Given the description of an element on the screen output the (x, y) to click on. 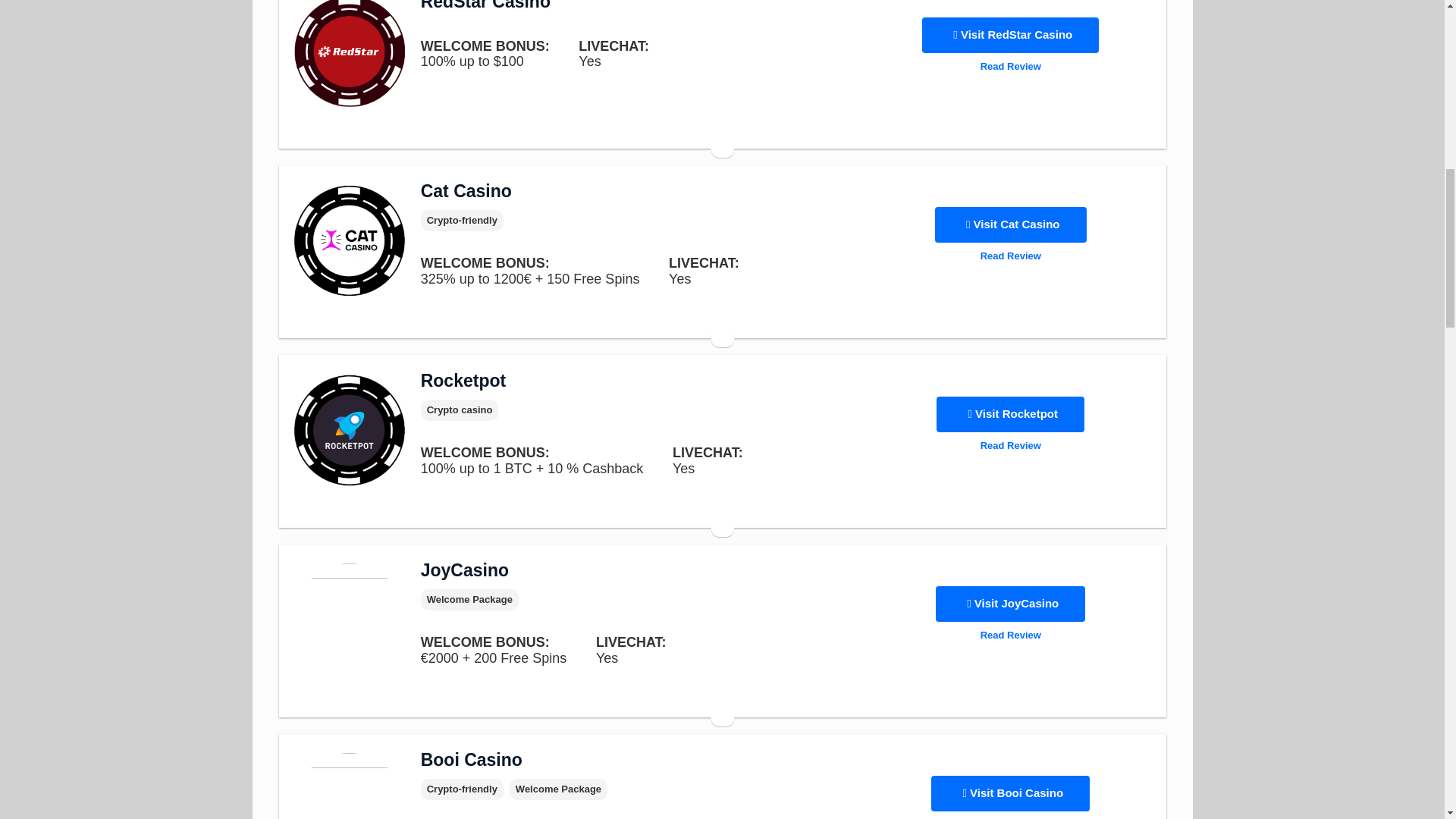
RedStar Casino (485, 8)
Read Review (1010, 66)
Visit RedStar Casino (1010, 35)
